Given the description of an element on the screen output the (x, y) to click on. 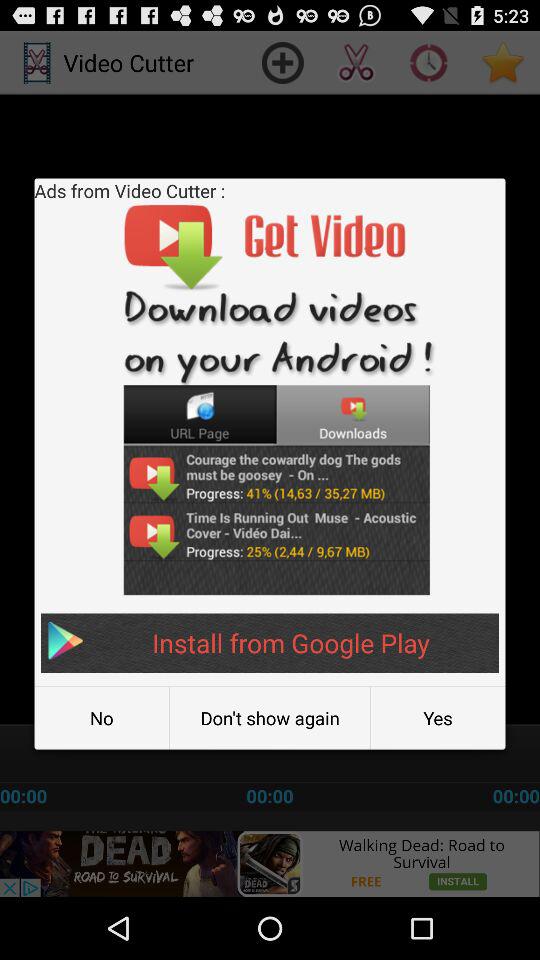
launch item to the left of the yes item (269, 717)
